Given the description of an element on the screen output the (x, y) to click on. 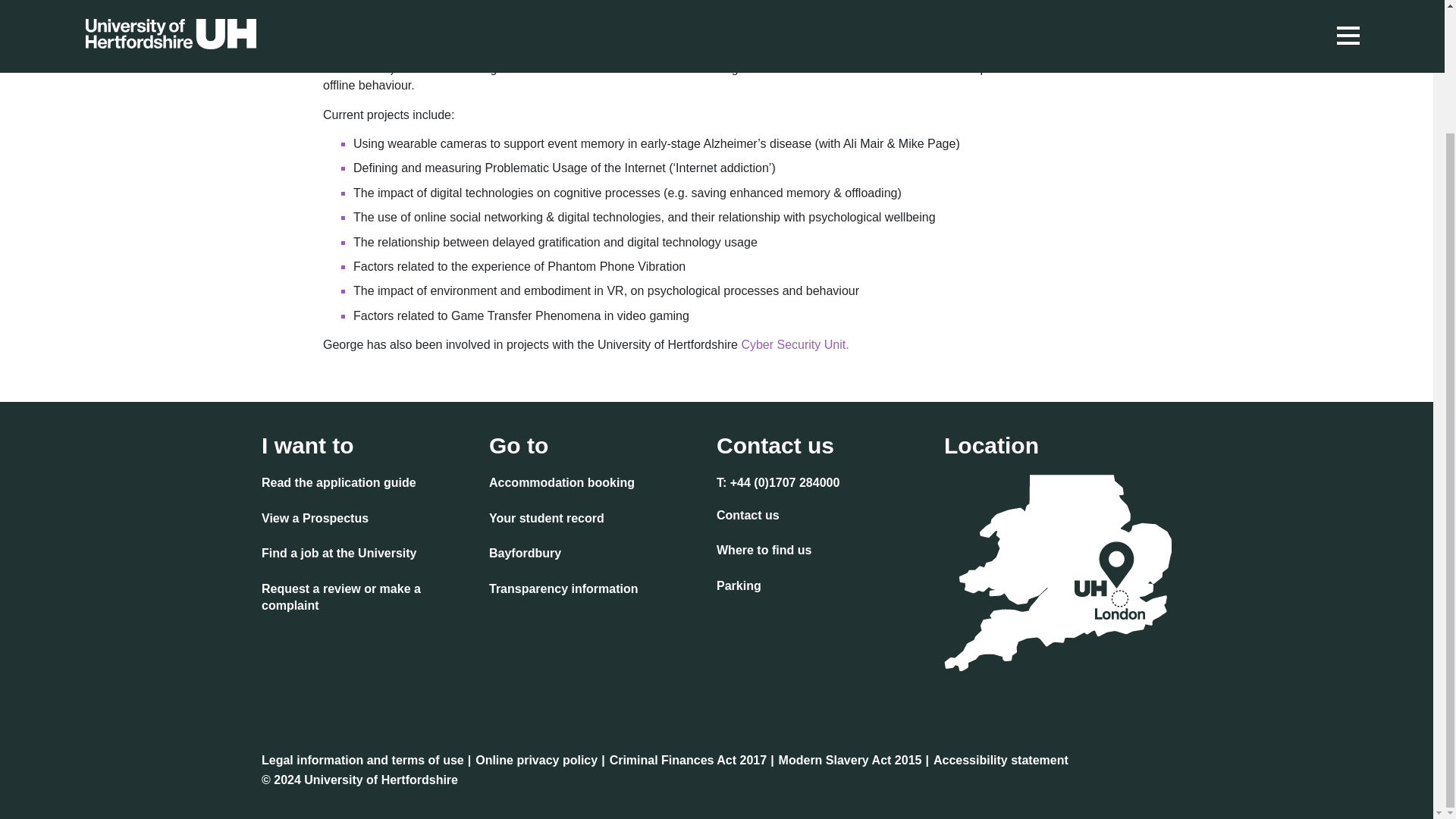
Find a job at the University (339, 555)
View a Prospectus (315, 519)
Contact us (747, 516)
Transparency information (564, 590)
Your student record (546, 519)
Bayfordbury (524, 555)
Read the application guide (339, 484)
Cyber Security Unit. (794, 344)
George Georgiou (369, 51)
Request a review or make a complaint (369, 599)
